Given the description of an element on the screen output the (x, y) to click on. 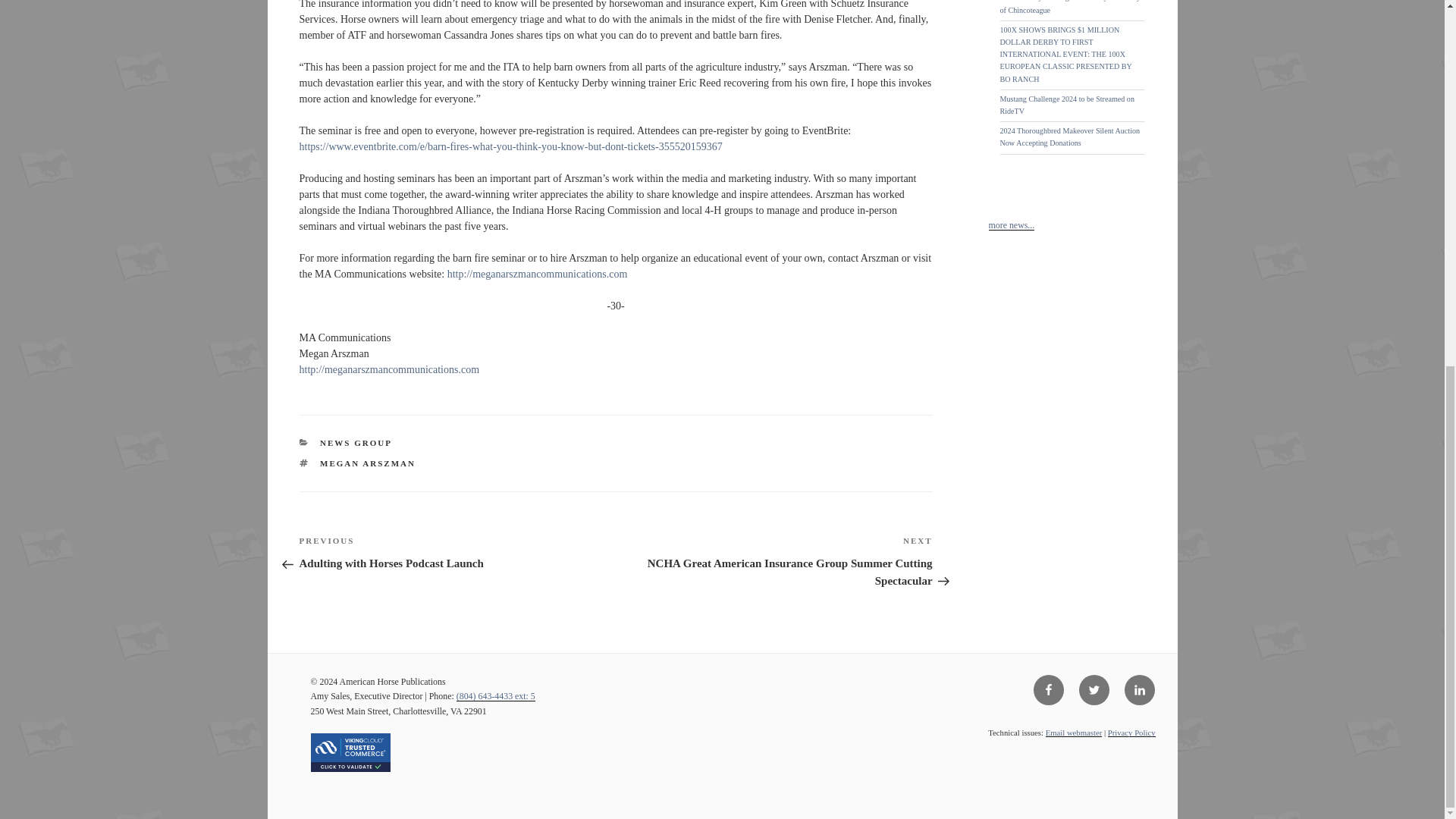
Place Phone Call (496, 696)
Mustang Challenge 2024 to be Streamed on RideTV (1066, 105)
